Given the description of an element on the screen output the (x, y) to click on. 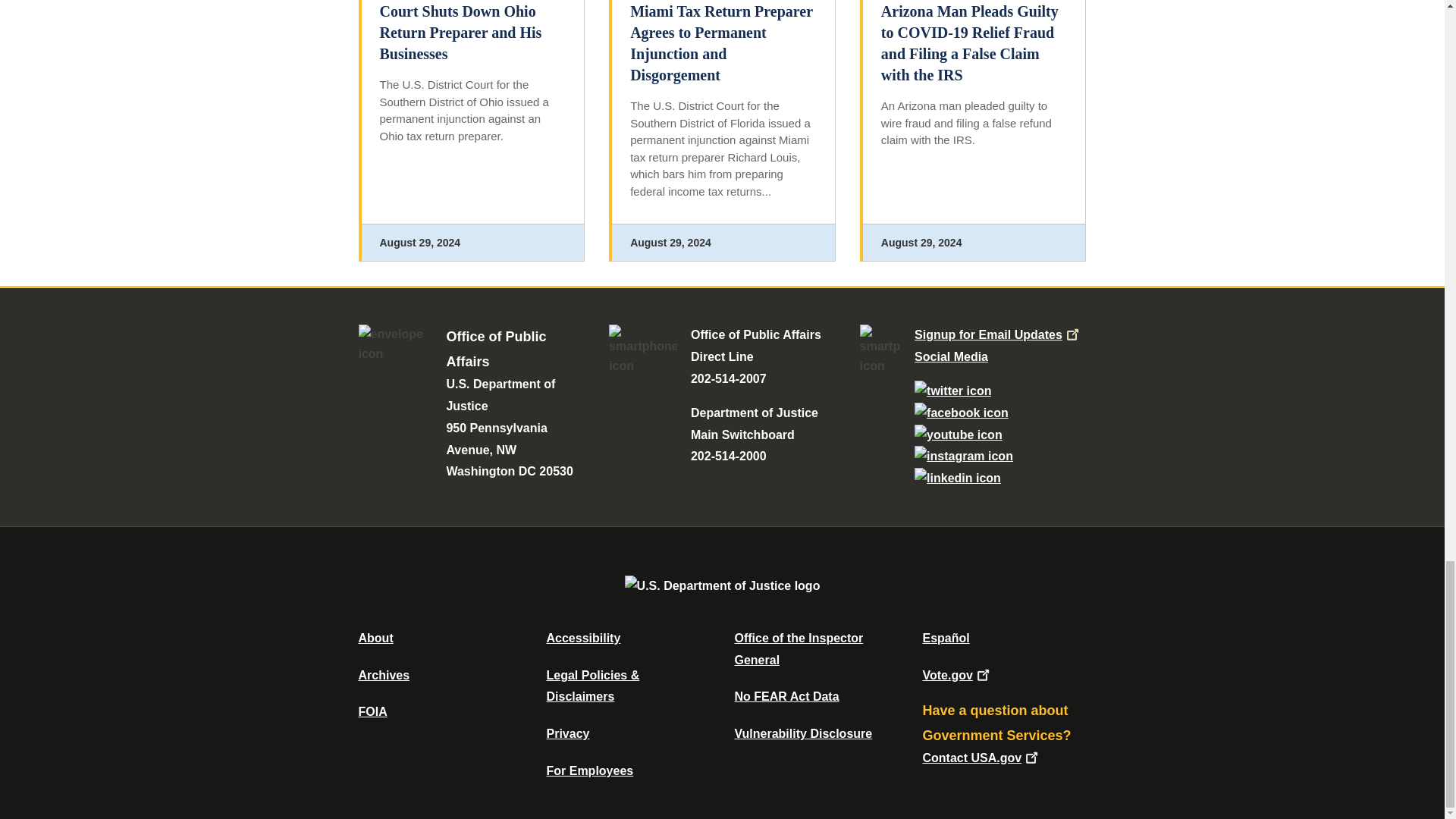
For Employees (589, 770)
Data Posted Pursuant To The No Fear Act (785, 696)
Office of Information Policy (372, 711)
About DOJ (375, 637)
Accessibility Statement (583, 637)
Legal Policies and Disclaimers (592, 686)
Department of Justice Archive (383, 675)
